Given the description of an element on the screen output the (x, y) to click on. 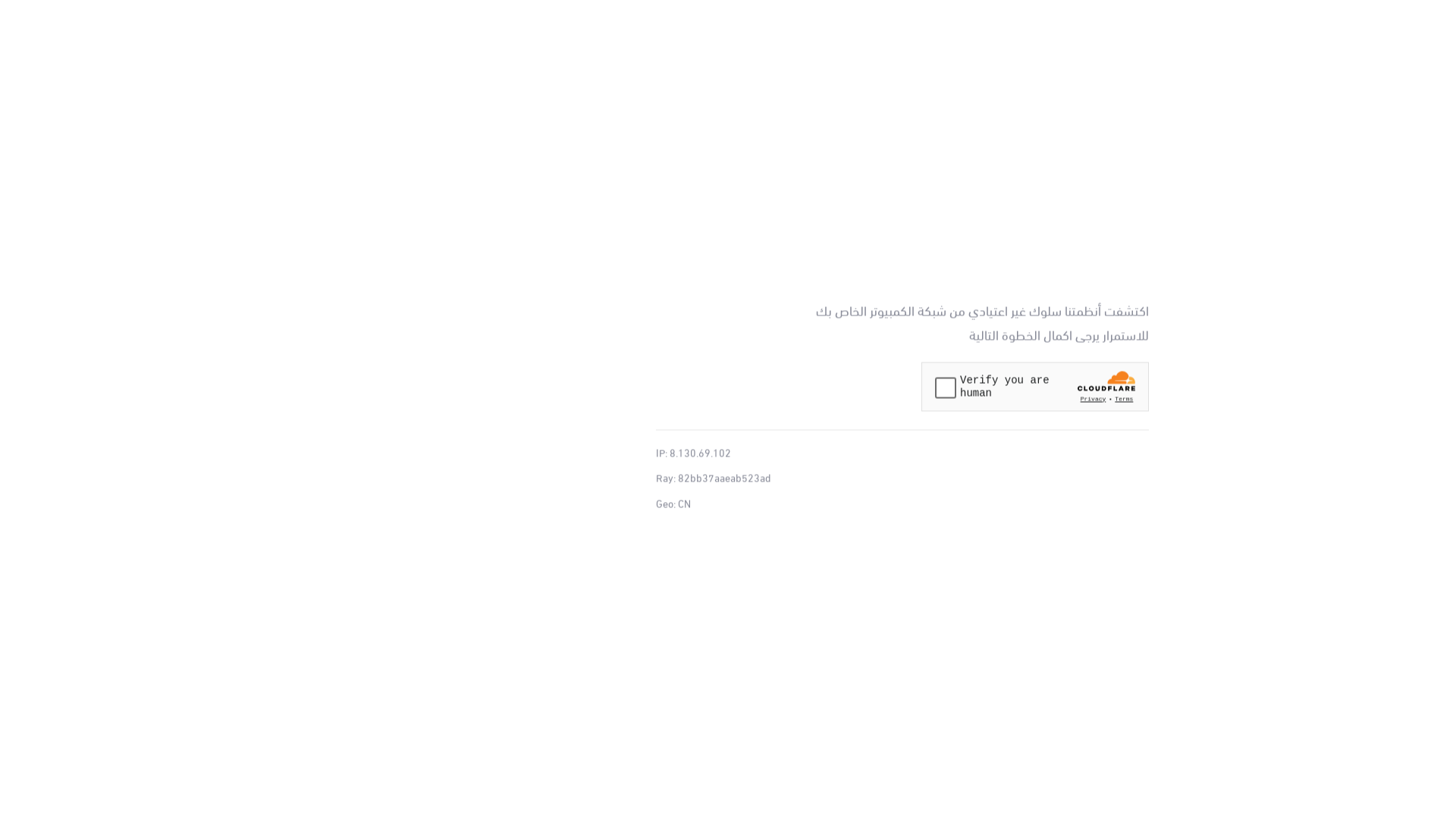
Widget containing a Cloudflare security challenge Element type: hover (1034, 386)
